Given the description of an element on the screen output the (x, y) to click on. 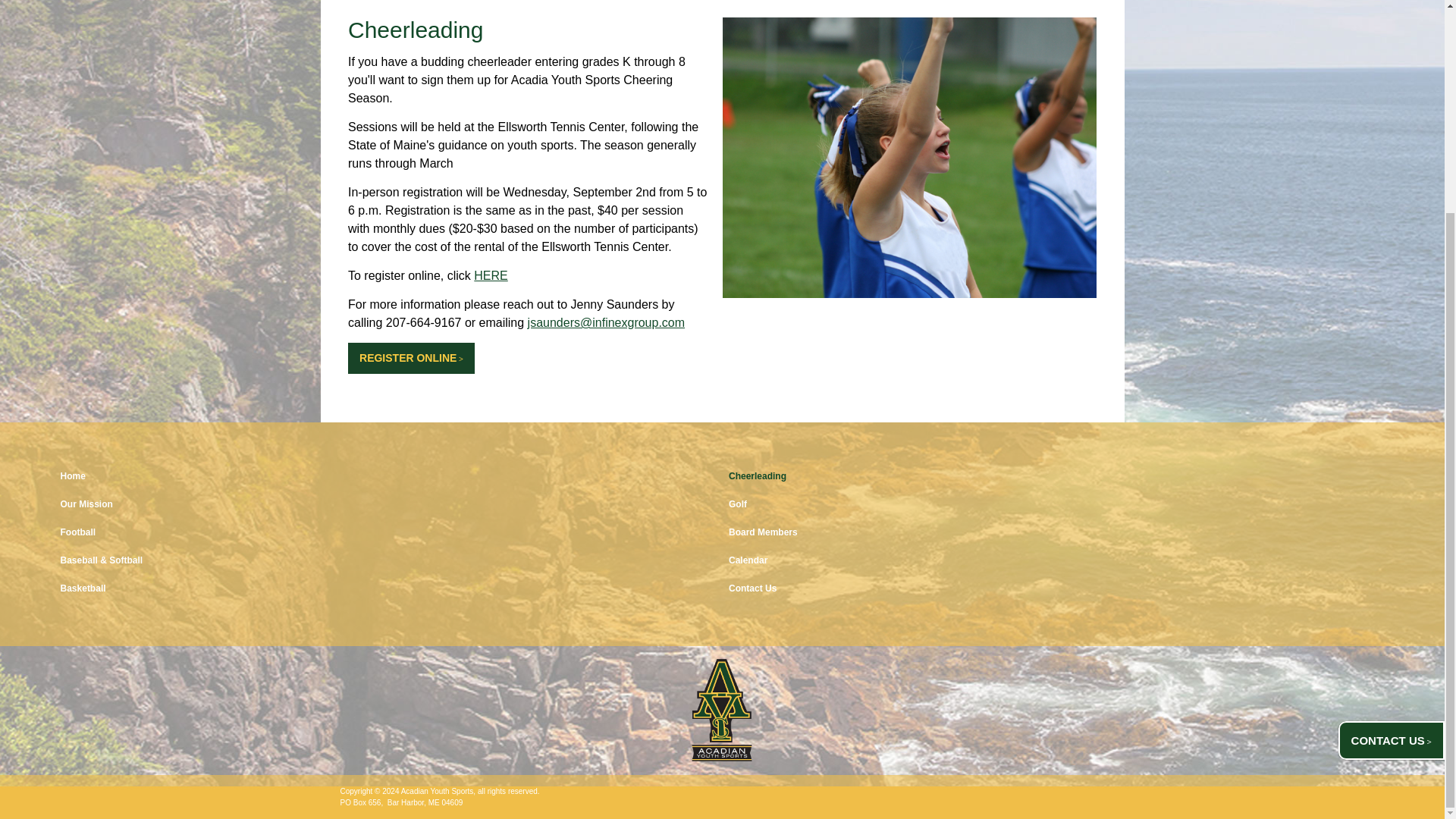
Our Mission (388, 506)
Acadian Youth Sports (722, 710)
Cheerleading (1056, 477)
Basketball (388, 589)
Contact Us (1056, 589)
Football (388, 534)
REGISTER ONLINE (410, 358)
HERE (490, 275)
Golf (1056, 506)
Home (388, 477)
Board Members (1056, 534)
Calendar (1056, 562)
Cheerleading (415, 29)
